Given the description of an element on the screen output the (x, y) to click on. 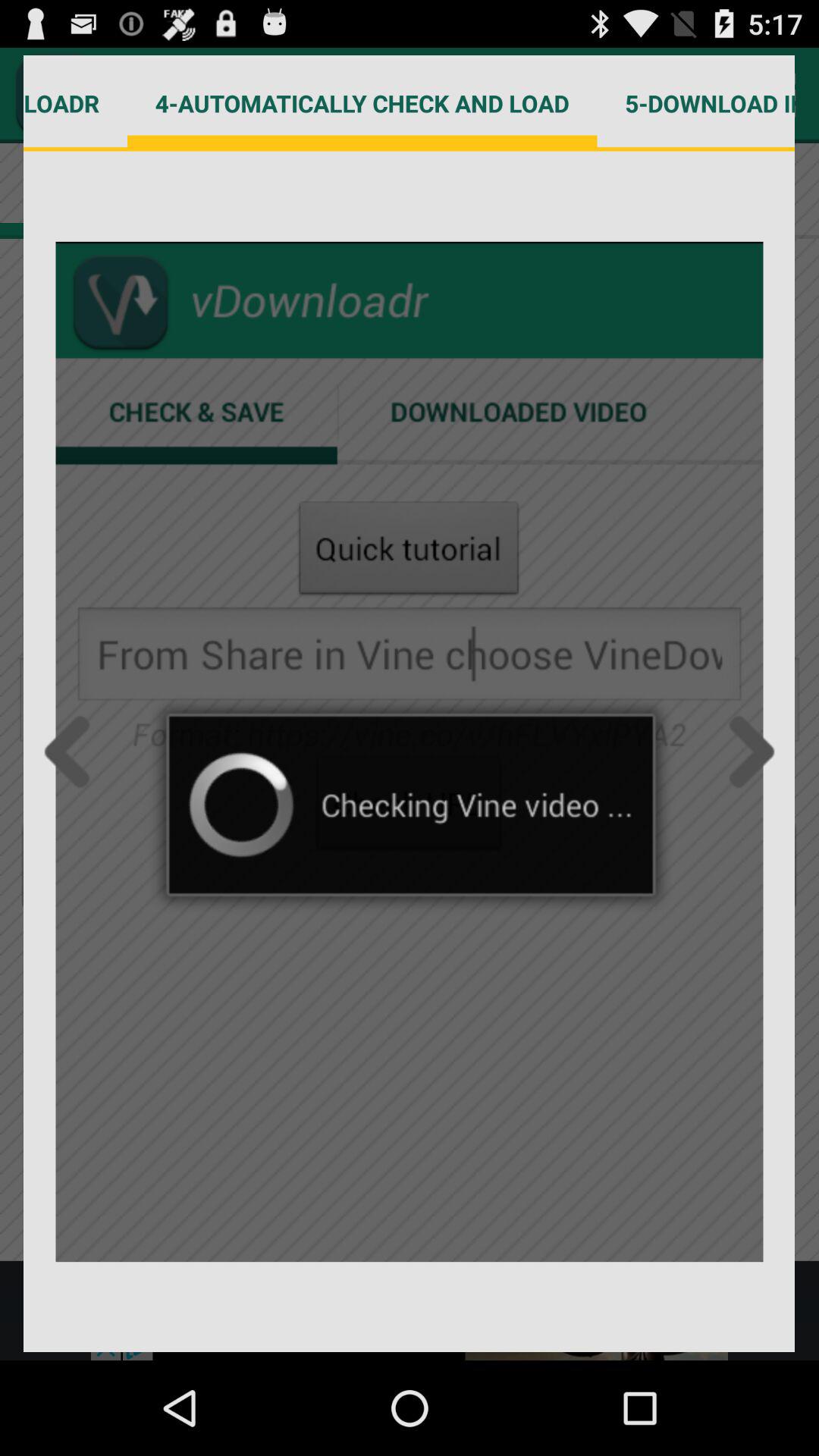
turn off item to the right of the 3-choose vdownloadr item (362, 103)
